Given the description of an element on the screen output the (x, y) to click on. 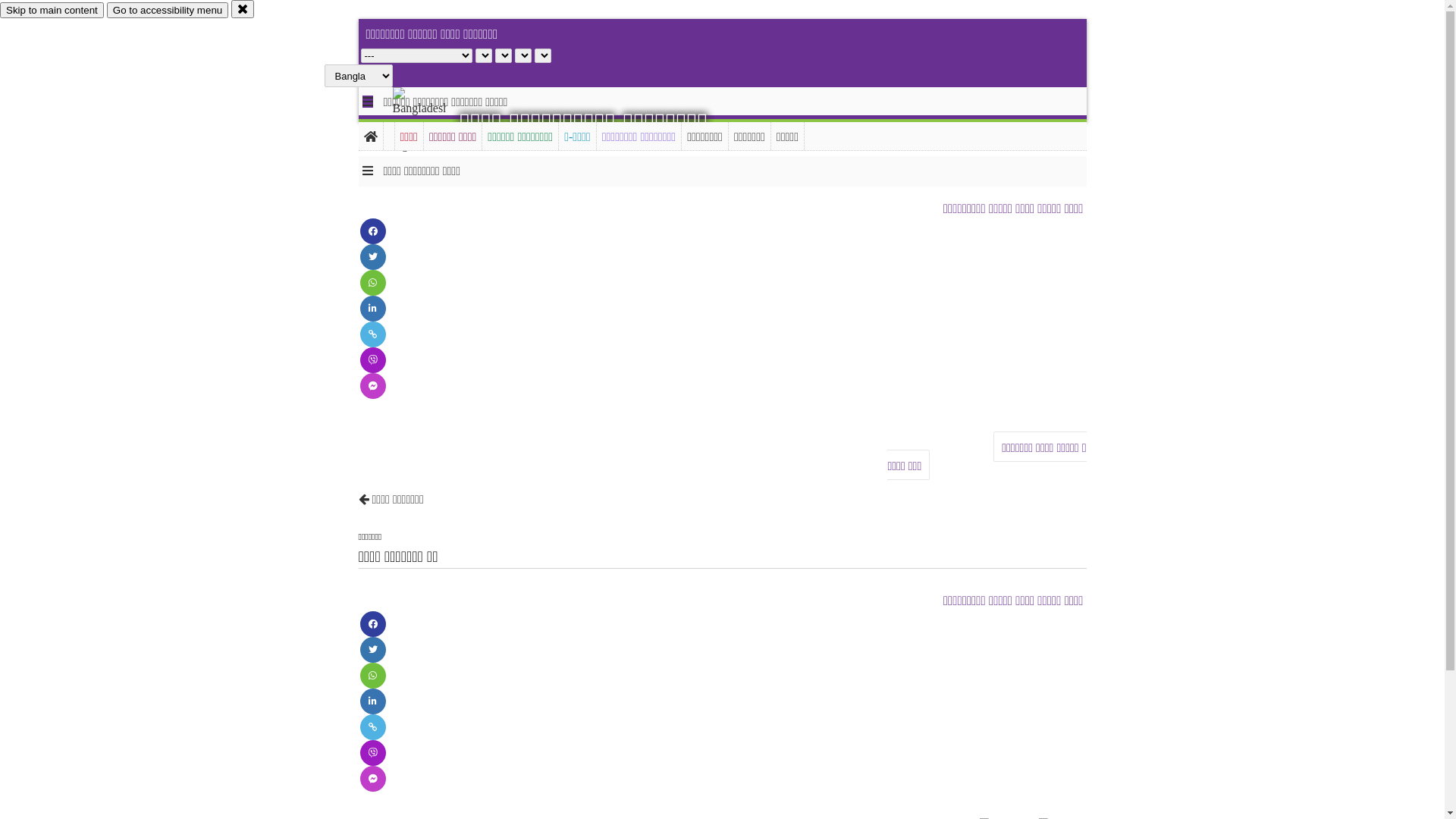
Go to accessibility menu Element type: text (167, 10)
Skip to main content Element type: text (51, 10)
close Element type: hover (242, 9)

                
             Element type: hover (431, 120)
